Given the description of an element on the screen output the (x, y) to click on. 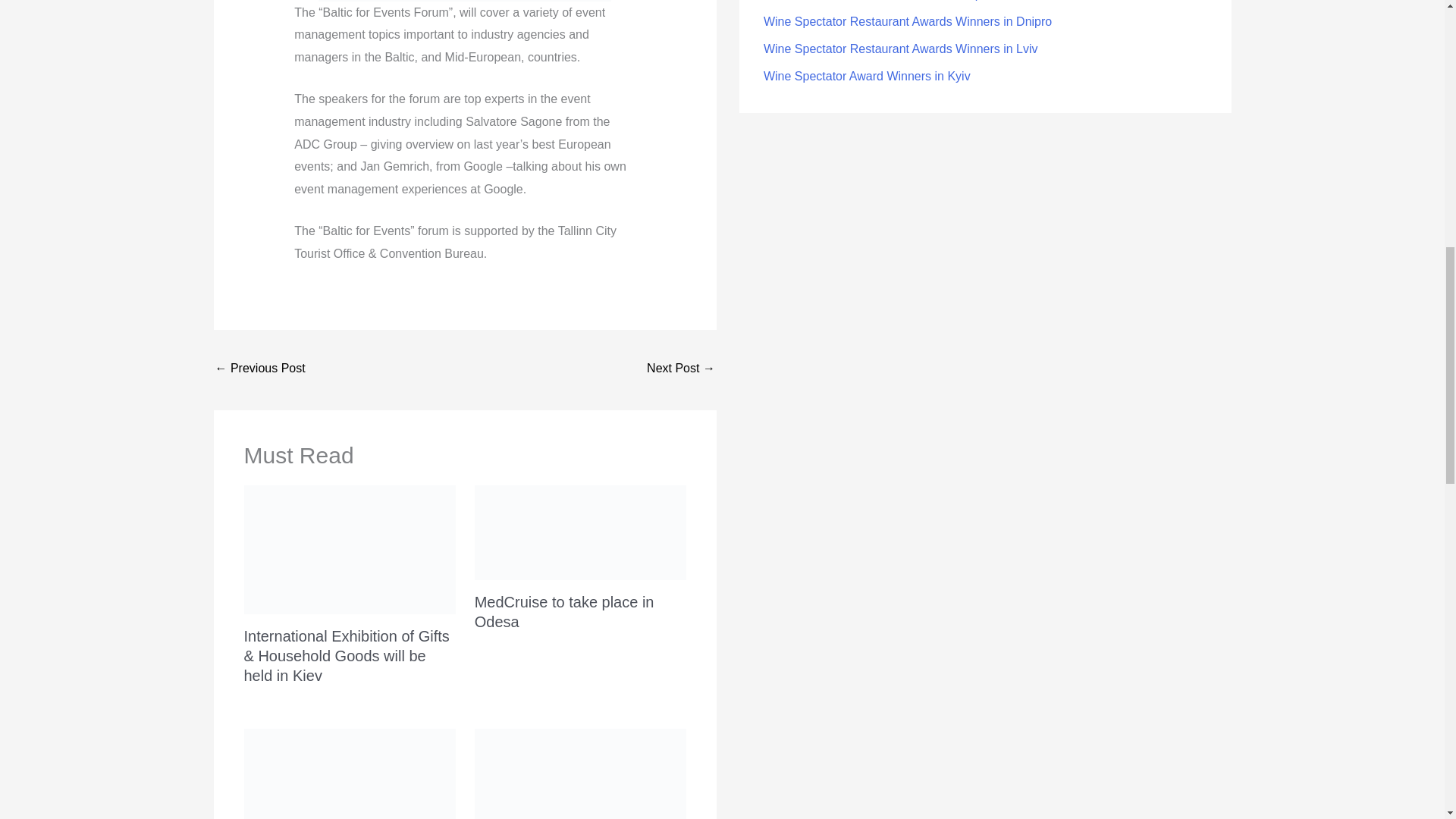
UITT 2017 opens in Kyiv (680, 369)
UIA to launch Zaporizhzhia - Batumi flights (260, 369)
